Given the description of an element on the screen output the (x, y) to click on. 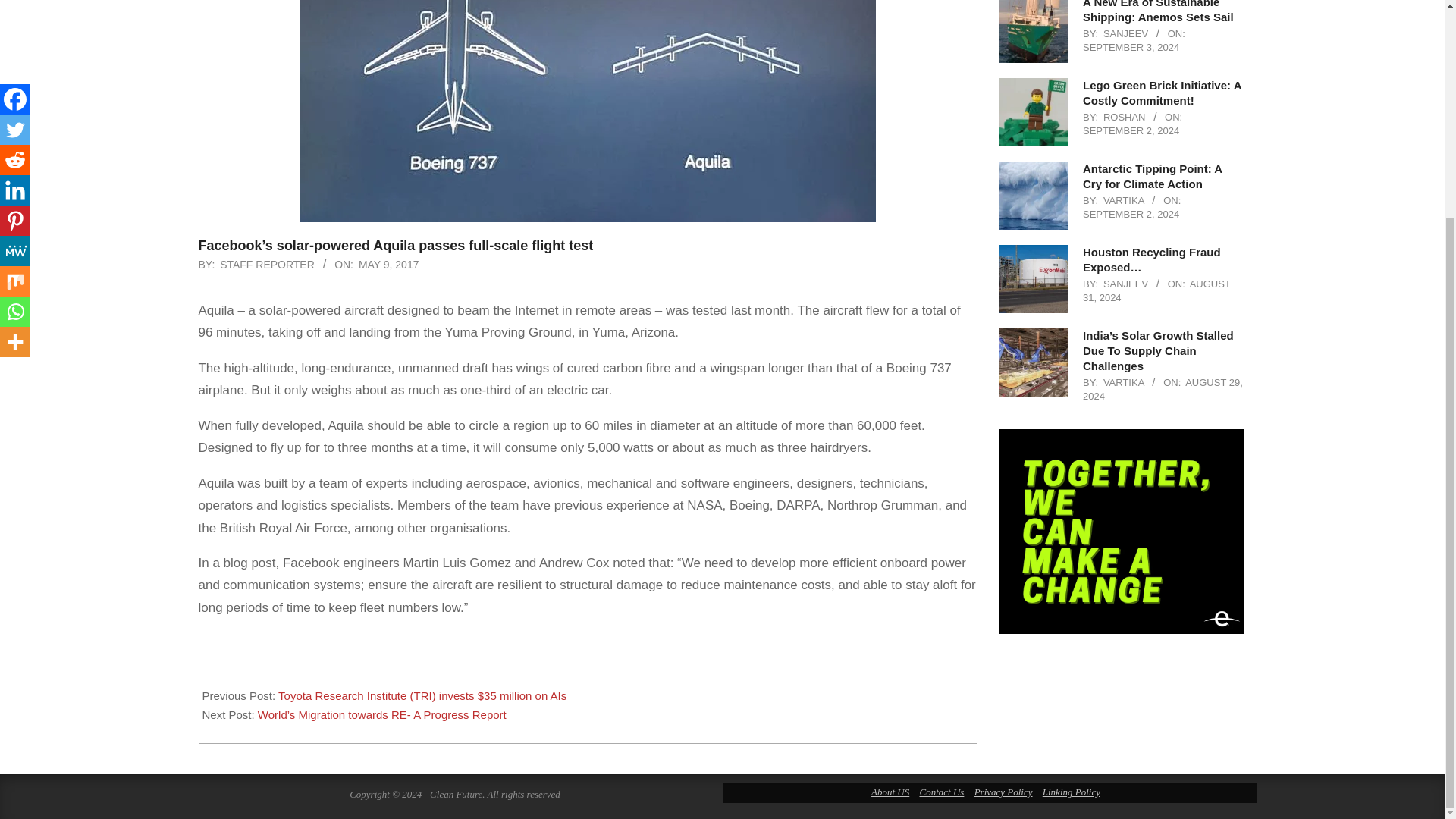
More (15, 53)
Tuesday, May 9, 2017, 4:16 pm (388, 264)
Posts by Roshan (1124, 116)
Tuesday, September 3, 2024, 2:12 pm (1131, 47)
Monday, September 2, 2024, 10:23 am (1131, 214)
Whatsapp (15, 23)
Monday, September 2, 2024, 7:59 pm (1131, 130)
Mix (15, 4)
Posts by Sanjeev (1125, 33)
STAFF REPORTER (266, 264)
